Given the description of an element on the screen output the (x, y) to click on. 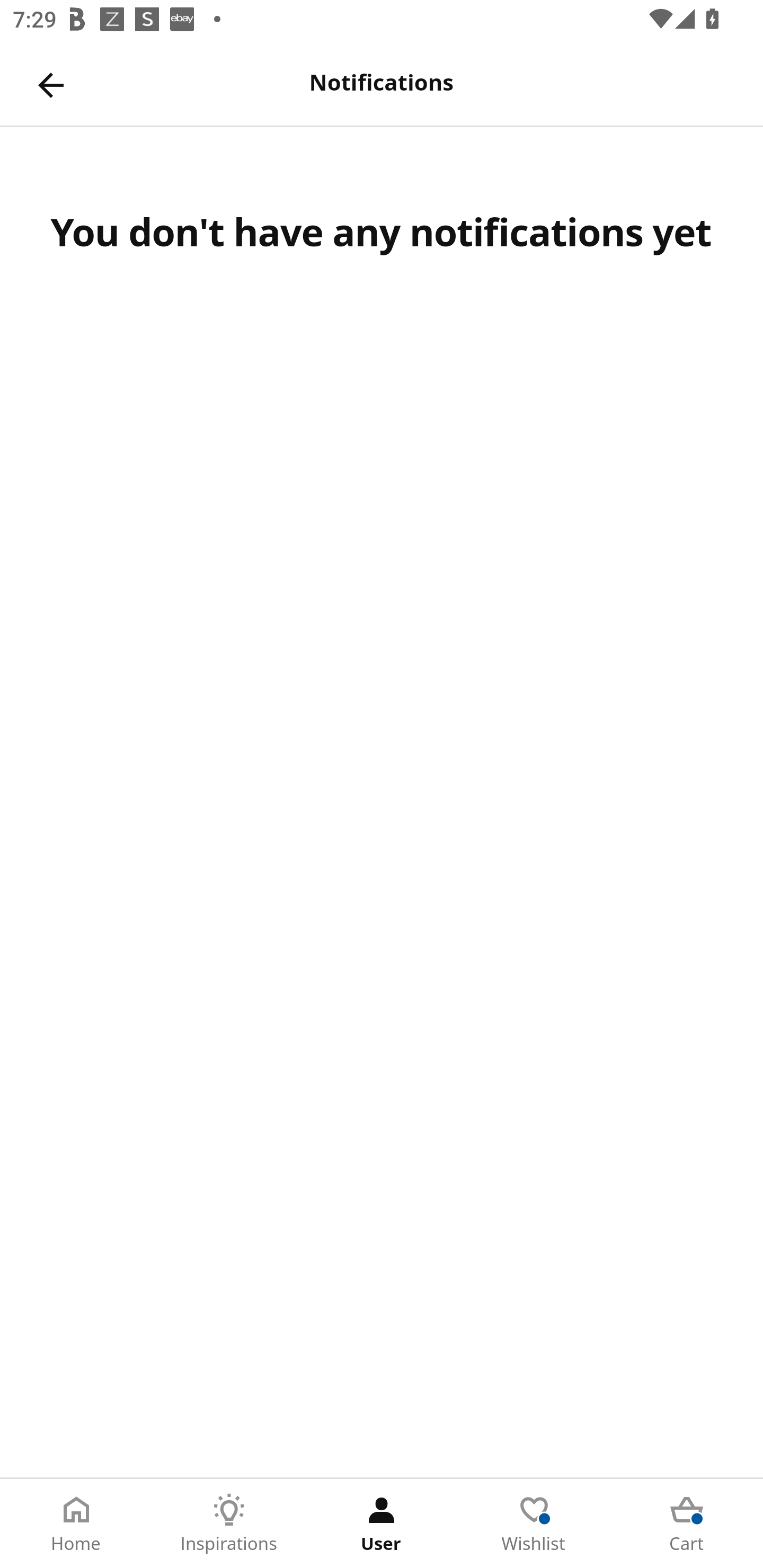
Home
Tab 1 of 5 (76, 1522)
Inspirations
Tab 2 of 5 (228, 1522)
User
Tab 3 of 5 (381, 1522)
Wishlist
Tab 4 of 5 (533, 1522)
Cart
Tab 5 of 5 (686, 1522)
